Given the description of an element on the screen output the (x, y) to click on. 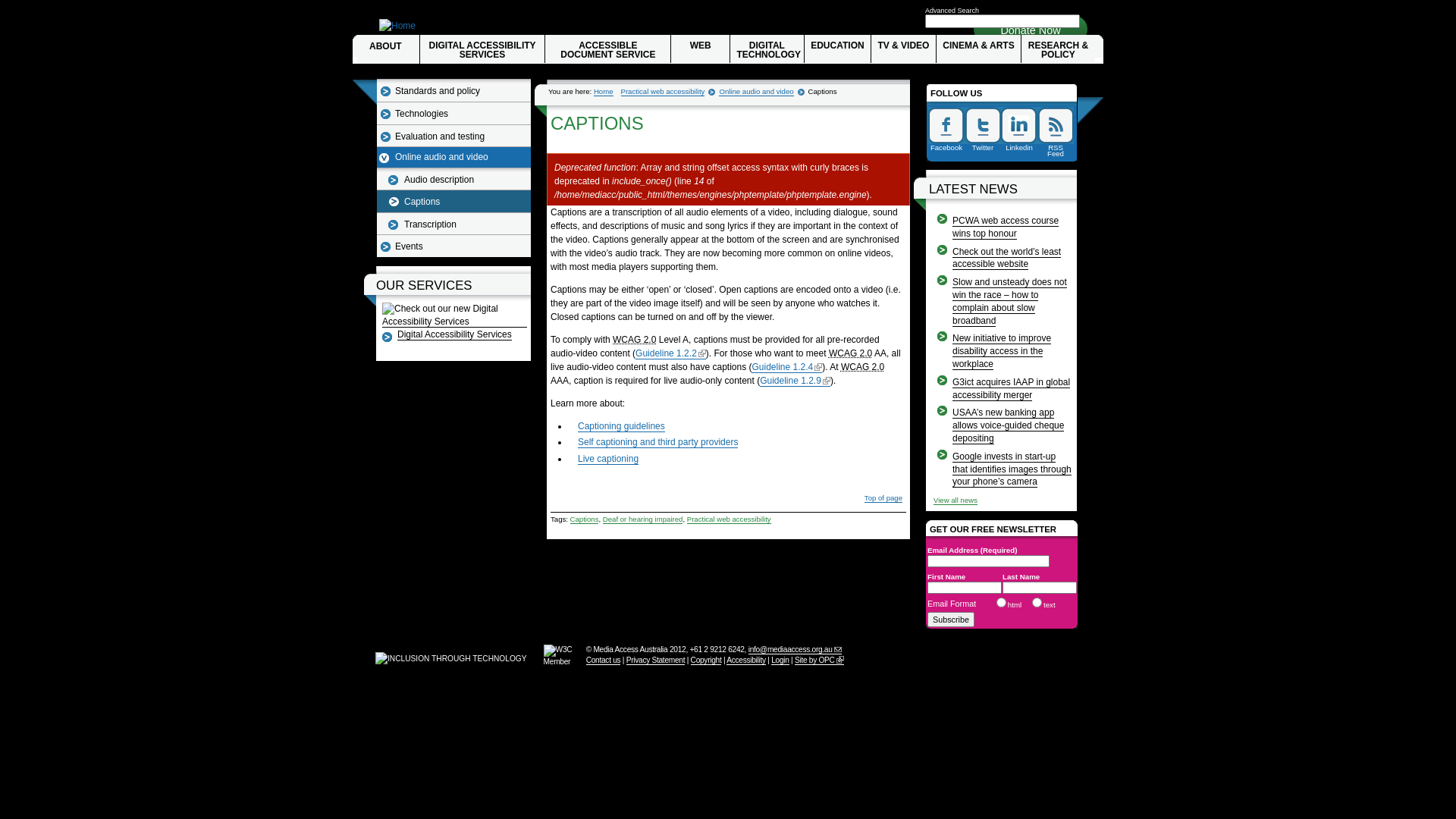
Captions Element type: text (453, 200)
Site by OPC
(link is external) Element type: text (819, 660)
RESEARCH & POLICY Element type: text (1058, 48)
Self captioning and third party providers Element type: text (657, 442)
Subscribe Element type: text (950, 619)
TV & VIDEO Element type: text (903, 48)
Login Element type: text (779, 660)
Advanced Search Element type: text (952, 10)
PCWA web access course wins top honour Element type: text (1005, 227)
Captions Element type: text (584, 519)
Privacy Statement Element type: text (655, 660)
Check out our new Digital Accessibility Services Element type: hover (454, 321)
Facebook Element type: text (946, 129)
DIGITAL ACCESSIBILITY SERVICES Element type: text (482, 48)
Evaluation and testing Element type: text (451, 136)
ACCESSIBLE DOCUMENT SERVICE Element type: text (607, 48)
Captioning guidelines Element type: text (621, 426)
ABOUT Element type: text (388, 48)
info@mediaaccess.org.au
(link sends e-mail) Element type: text (794, 649)
Search Element type: text (15, 6)
G3ict acquires IAAP in global accessibility merger Element type: text (1011, 388)
Top of page Element type: text (883, 497)
Digital Accessibility Services Element type: text (454, 334)
Practical web accessibility Element type: text (729, 519)
Live captioning Element type: text (607, 458)
Online audio and video Element type: text (453, 156)
RSS
Feed Element type: text (1055, 129)
Linkedin Element type: text (1019, 129)
Copyright Element type: text (705, 660)
Guideline 1.2.9
(link is external) Element type: text (794, 380)
Twitter Element type: text (982, 129)
Guideline 1.2.2
(link is external) Element type: text (670, 353)
Audio description Element type: text (455, 179)
CINEMA & ARTS Element type: text (978, 48)
View all news Element type: text (955, 500)
Standards and policy Element type: text (451, 90)
Home Element type: text (603, 91)
Technologies Element type: text (451, 113)
Contact us Element type: text (603, 660)
Practical web accessibility Element type: text (663, 91)
Accessibility Element type: text (745, 660)
Home Element type: hover (397, 25)
Online audio and video Element type: text (755, 91)
New initiative to improve disability access in the workplace Element type: text (1001, 351)
WEB Element type: text (700, 48)
Guideline 1.2.4
(link is external) Element type: text (786, 367)
DIGITAL TECHNOLOGY Element type: text (766, 48)
Transcription Element type: text (455, 224)
Donate Now Element type: text (1030, 30)
Enter the terms you wish to search for. Element type: hover (1002, 21)
Events Element type: text (451, 247)
Deaf or hearing impaired Element type: text (642, 519)
EDUCATION Element type: text (837, 48)
